Given the description of an element on the screen output the (x, y) to click on. 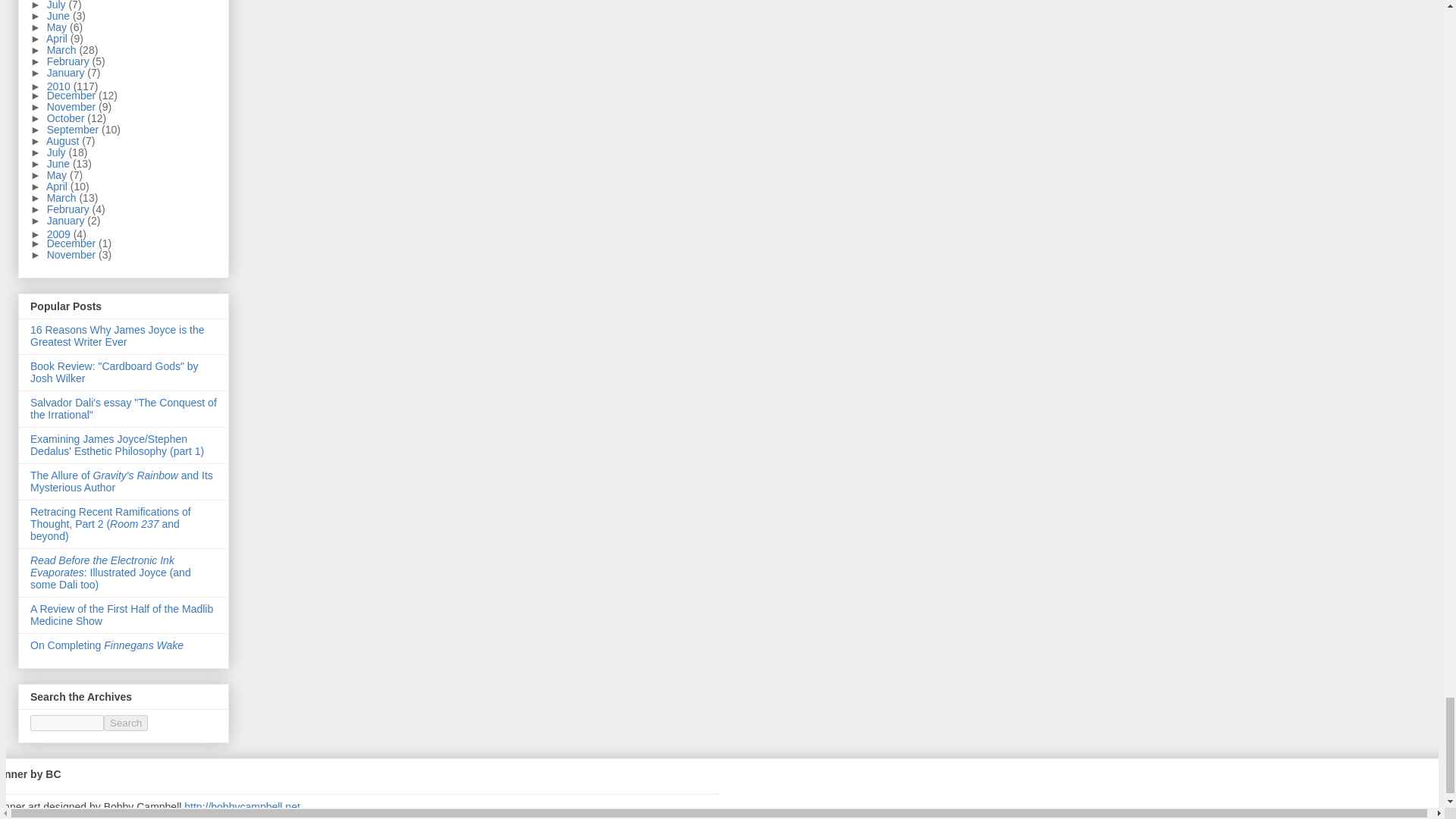
Search (125, 722)
Search (125, 722)
search (66, 722)
search (125, 722)
